Given the description of an element on the screen output the (x, y) to click on. 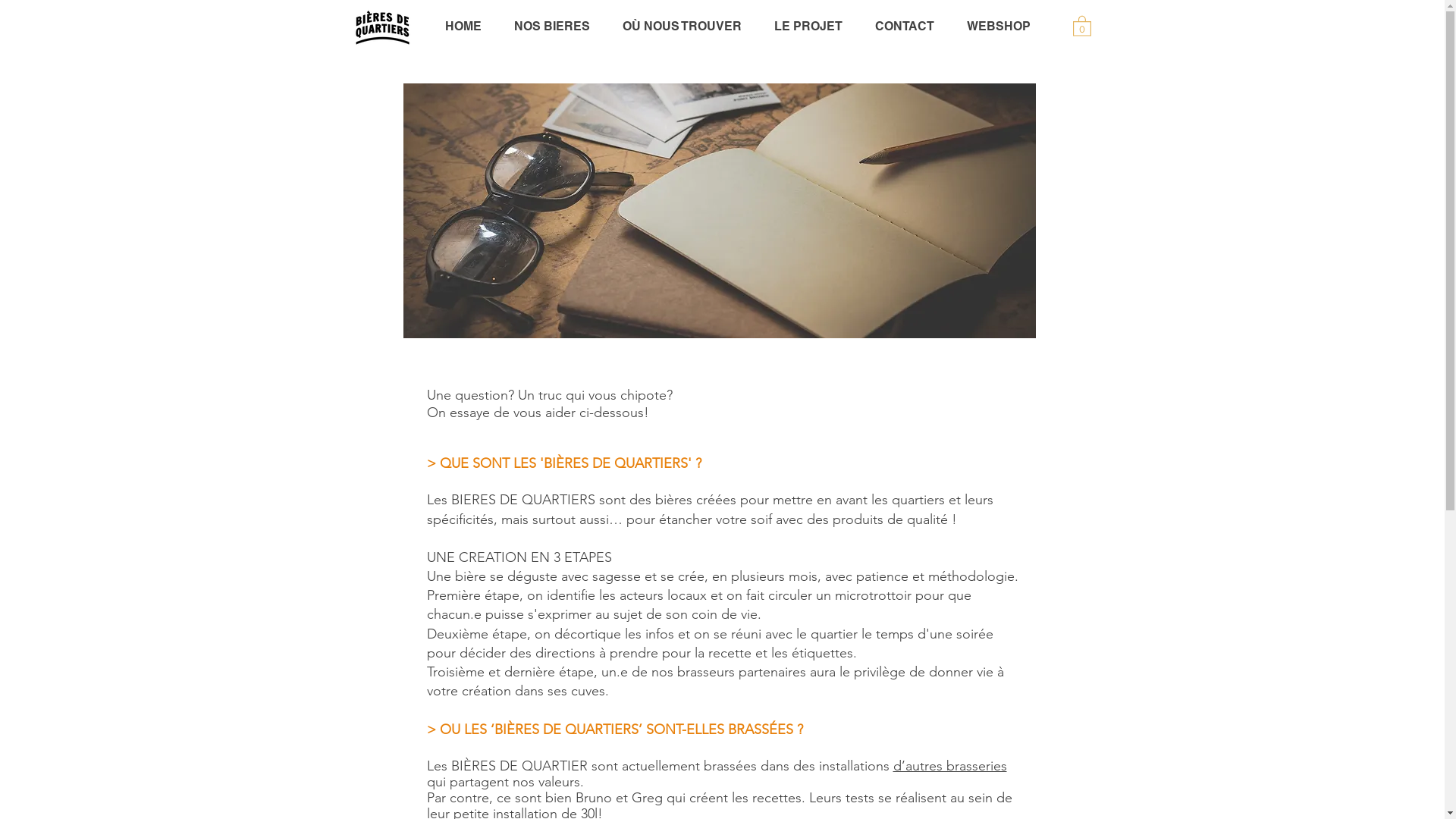
LE PROJET Element type: text (808, 26)
NOS BIERES Element type: text (551, 26)
0 Element type: text (1081, 25)
CONTACT Element type: text (904, 26)
HOME Element type: text (462, 26)
WEBSHOP Element type: text (998, 26)
